Given the description of an element on the screen output the (x, y) to click on. 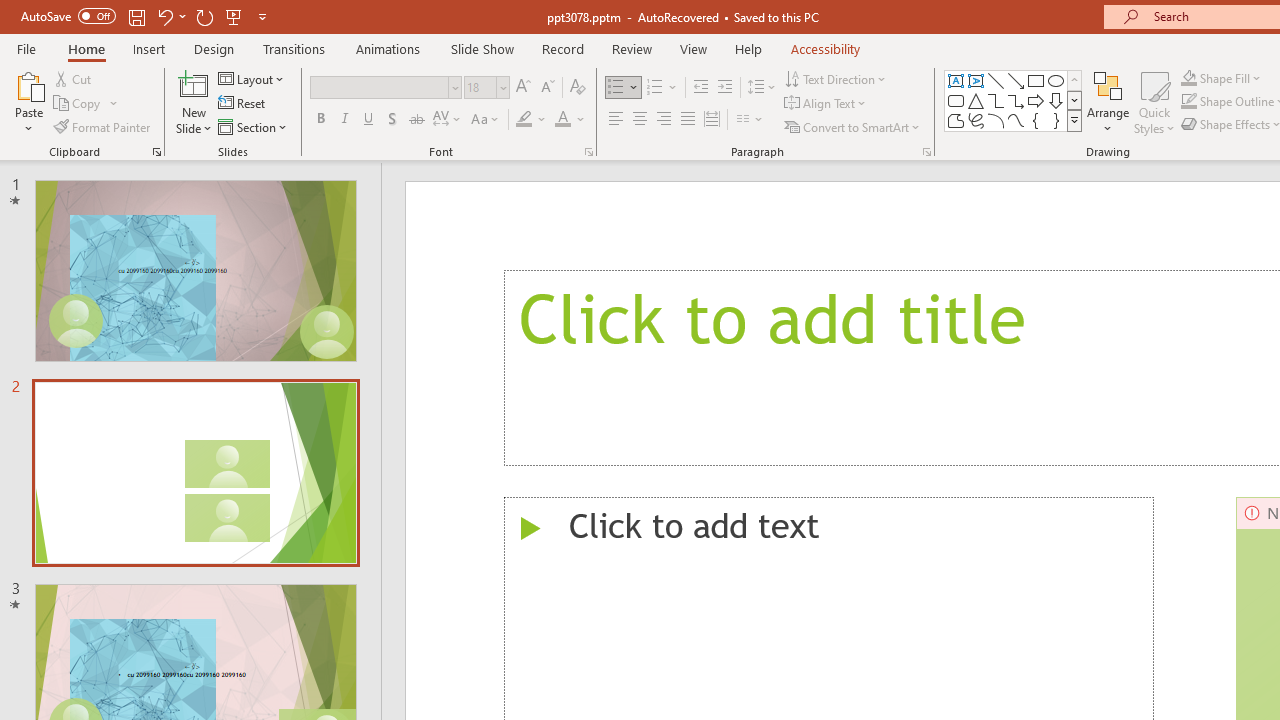
Columns (750, 119)
Decrease Indent (700, 87)
Increase Indent (725, 87)
Decrease Font Size (547, 87)
Reset (243, 103)
Shapes (1074, 120)
Text Box (955, 80)
Shadow (392, 119)
